Given the description of an element on the screen output the (x, y) to click on. 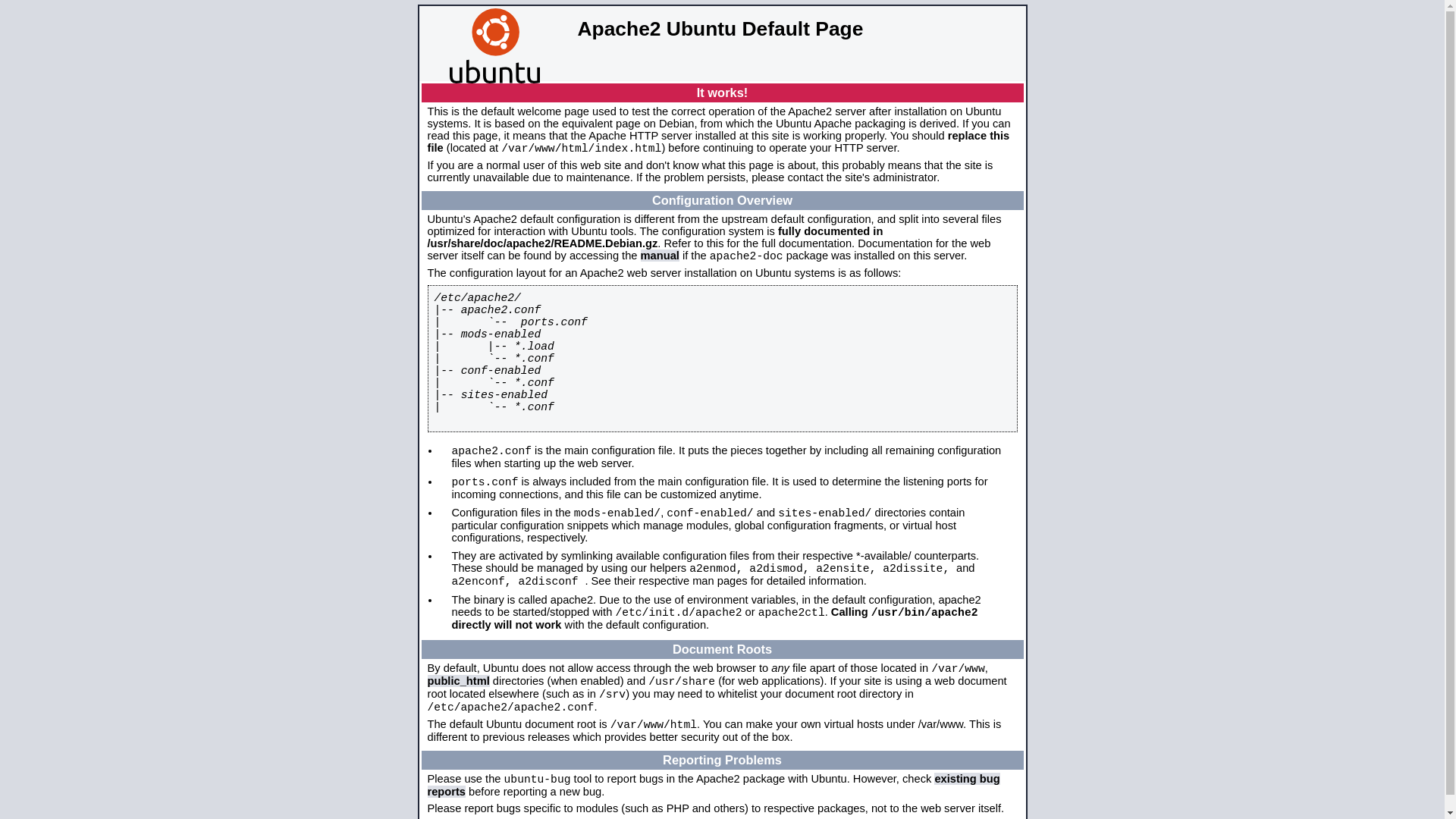
manual Element type: text (659, 255)
existing bug reports Element type: text (713, 784)
public_html Element type: text (458, 680)
